Given the description of an element on the screen output the (x, y) to click on. 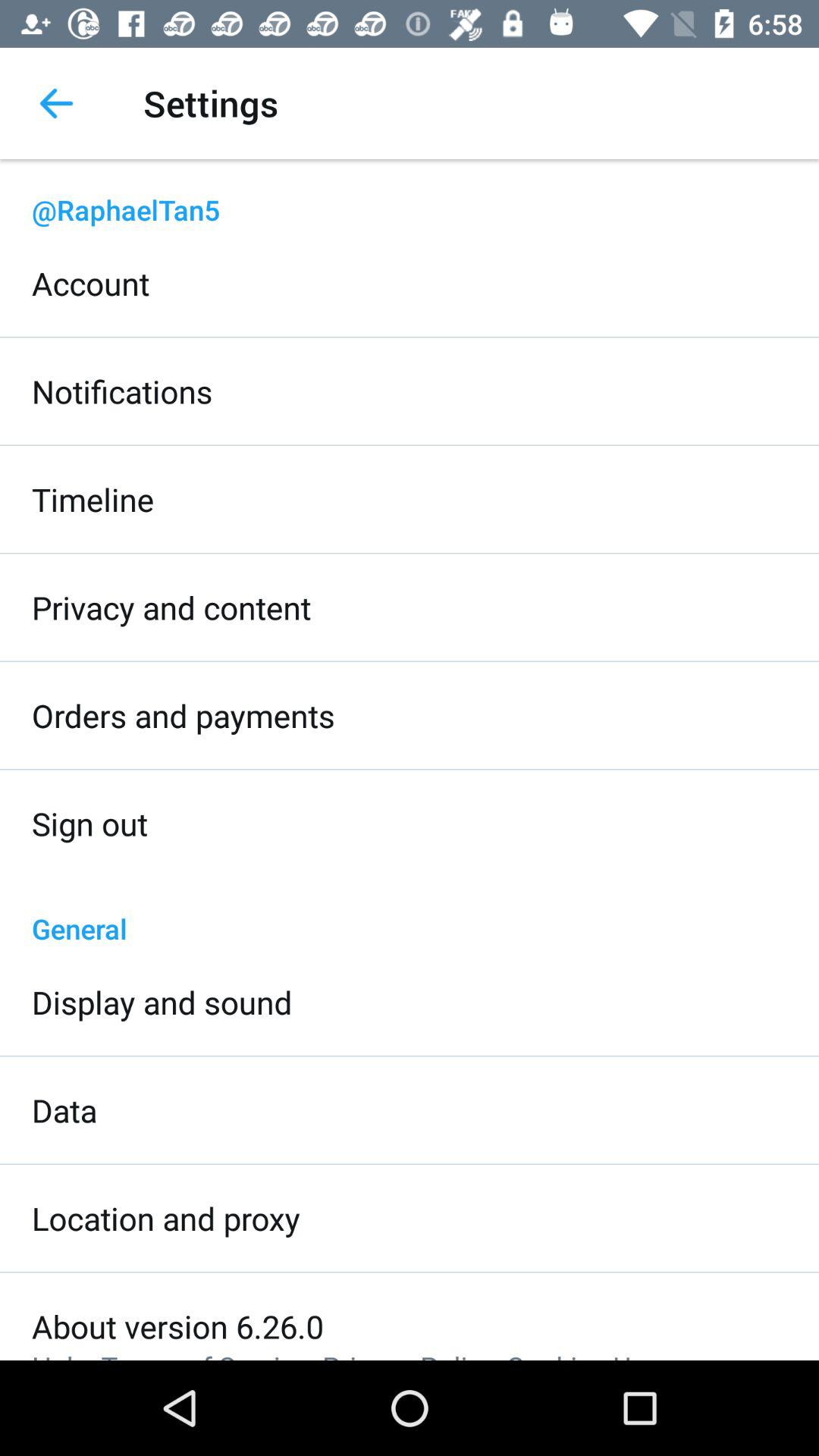
press notifications icon (121, 390)
